Given the description of an element on the screen output the (x, y) to click on. 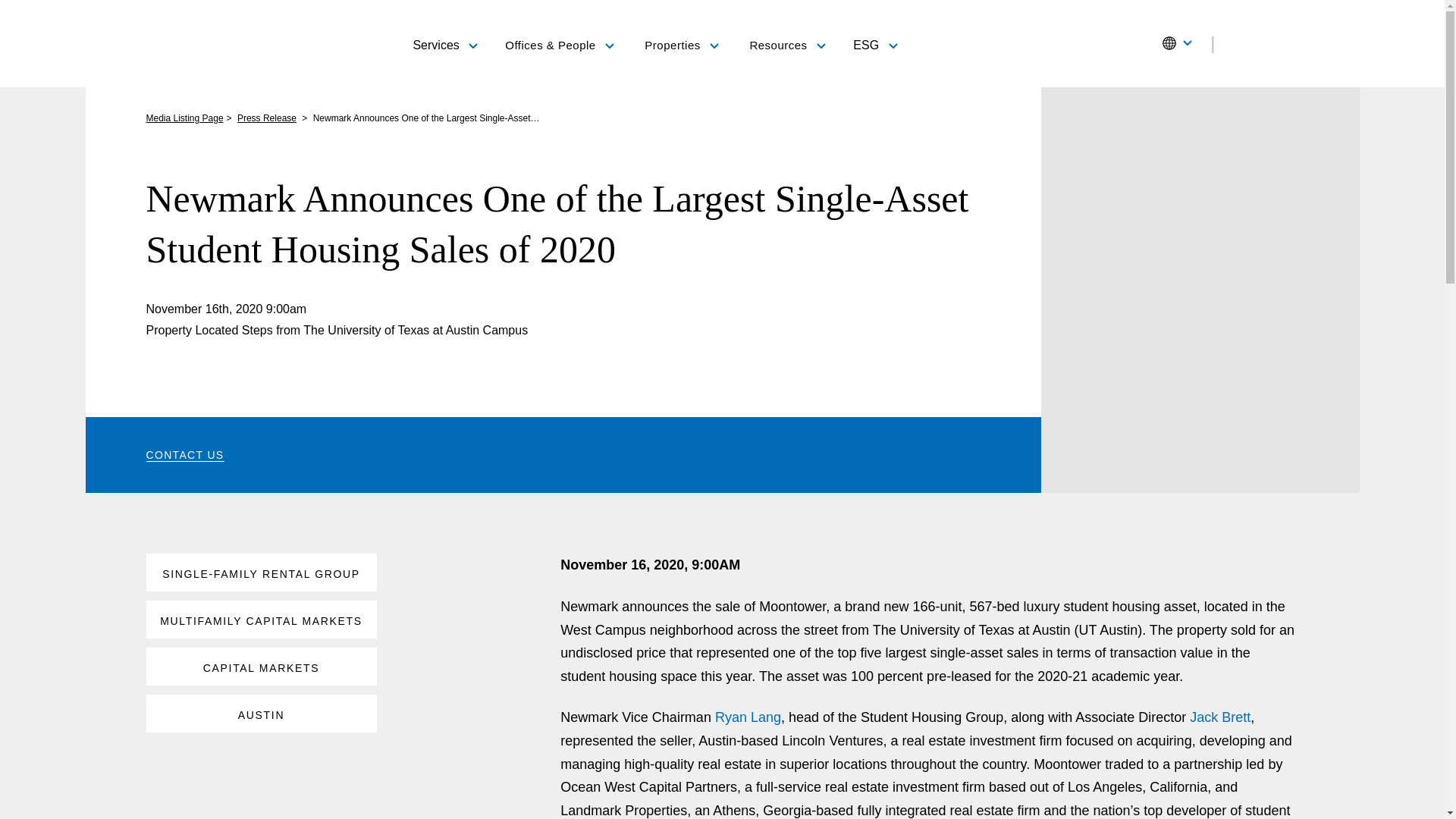
Resources (787, 45)
Services (444, 43)
Properties (682, 45)
